Given the description of an element on the screen output the (x, y) to click on. 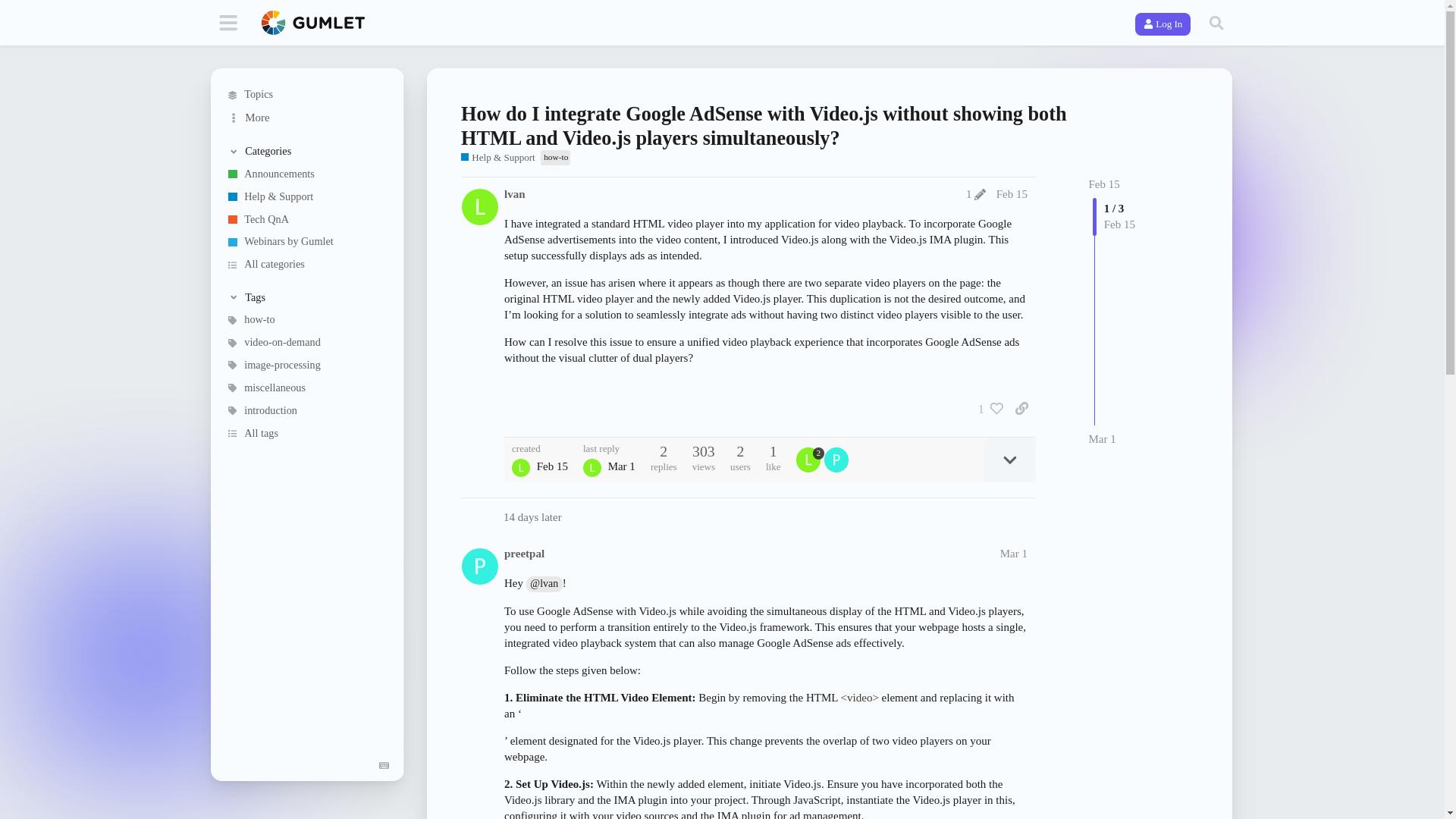
Toggle section (307, 297)
A place to get support from Gumlet team. (498, 157)
All tags (307, 433)
Toggle section (307, 151)
Mar 1 (1102, 439)
introduction (307, 410)
Log In (1163, 23)
1 (987, 408)
Keyboard Shortcuts (384, 765)
